Given the description of an element on the screen output the (x, y) to click on. 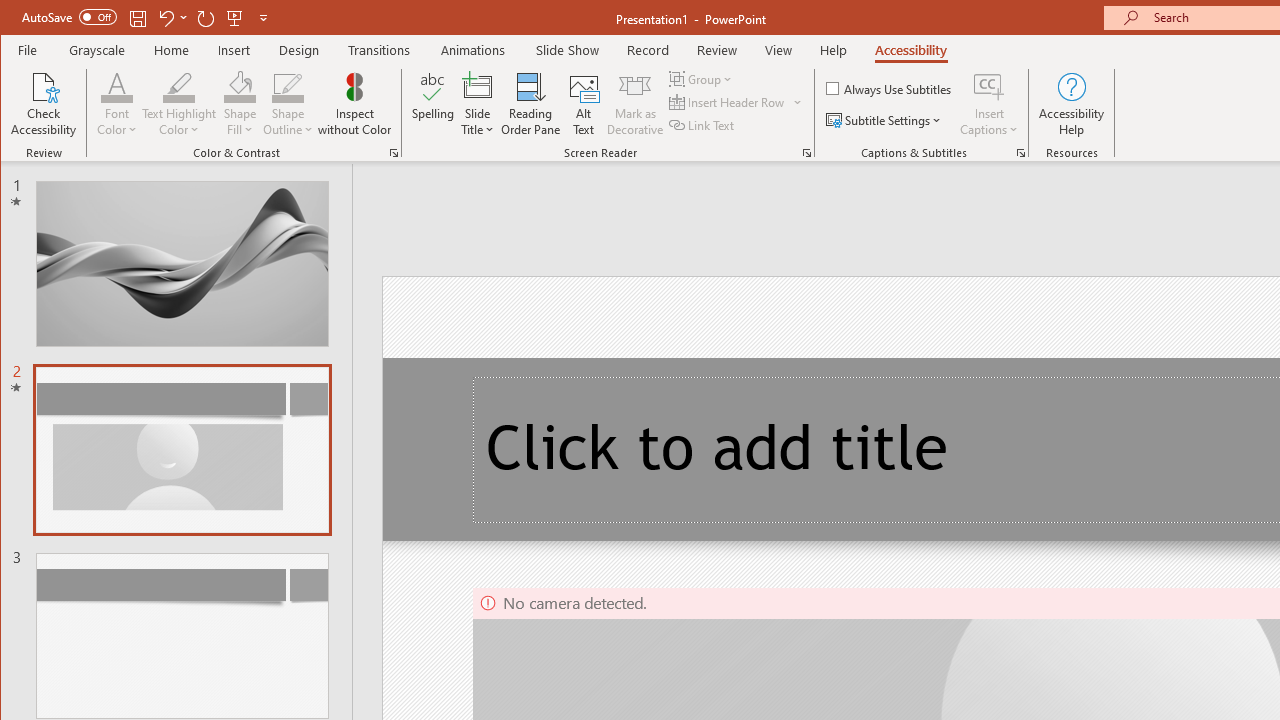
Accessibility Help (1071, 104)
Slide (182, 635)
View (779, 50)
From Beginning (235, 17)
Slide Title (477, 104)
Mark as Decorative (635, 104)
Insert Captions (989, 86)
Screen Reader (806, 152)
Inspect without Color (355, 104)
Text Highlight Color (178, 104)
